Given the description of an element on the screen output the (x, y) to click on. 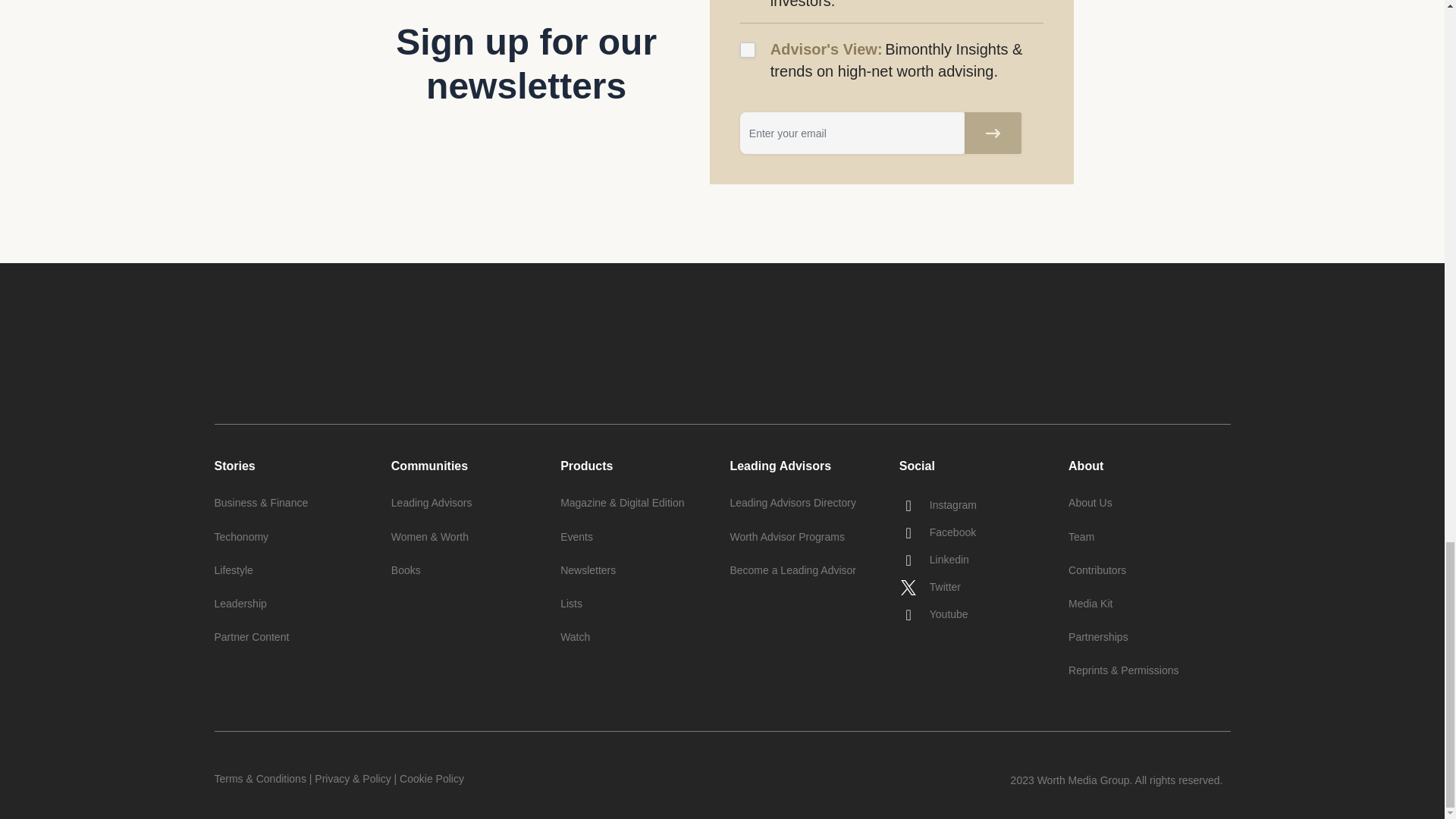
yes (747, 49)
